Given the description of an element on the screen output the (x, y) to click on. 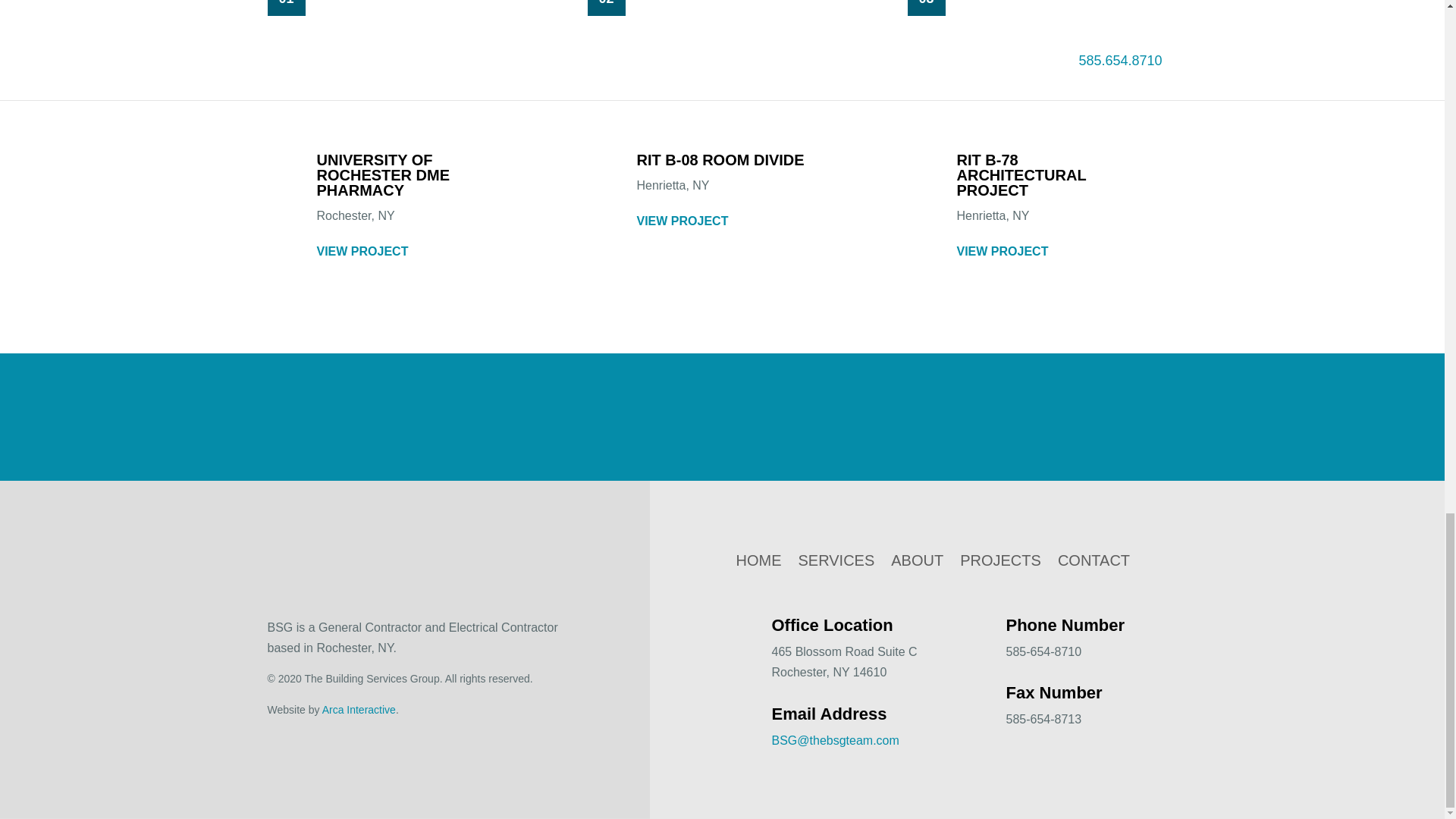
VIEW PROJECT (1002, 250)
VIEW PROJECT (683, 220)
SERVICES (836, 563)
VIEW PROJECT (363, 250)
CONTACT (1093, 563)
HOME (757, 563)
PROJECTS (1000, 563)
ABOUT (917, 563)
